Given the description of an element on the screen output the (x, y) to click on. 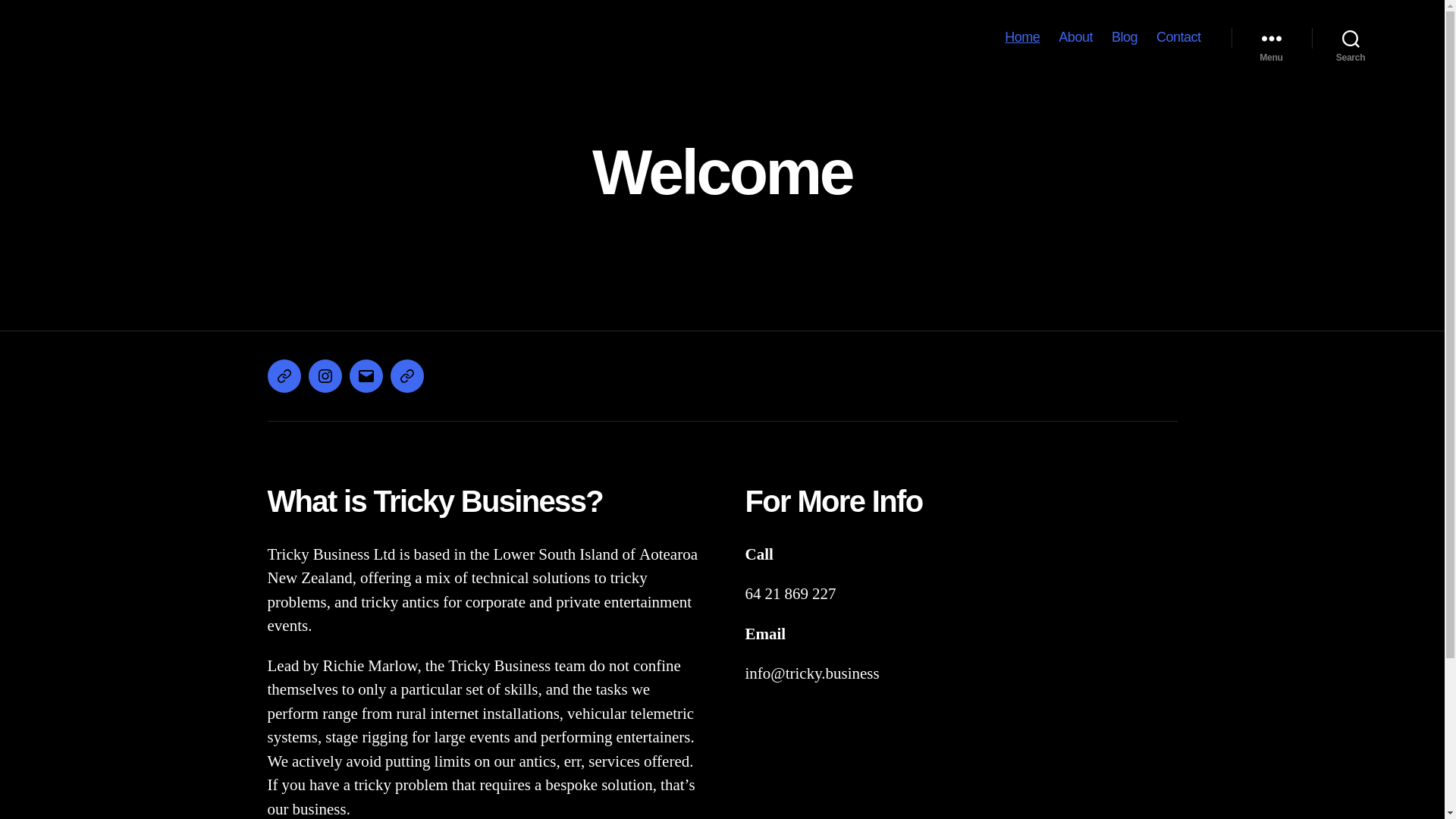
Email Element type: text (365, 375)
Search Element type: text (1350, 37)
Home Element type: text (1021, 37)
Facebook Element type: text (283, 375)
About Element type: text (1075, 37)
Menu Element type: text (1271, 37)
Instagram Element type: text (324, 375)
Contact Element type: text (1178, 37)
ESP Element type: text (406, 375)
Blog Element type: text (1124, 37)
